Given the description of an element on the screen output the (x, y) to click on. 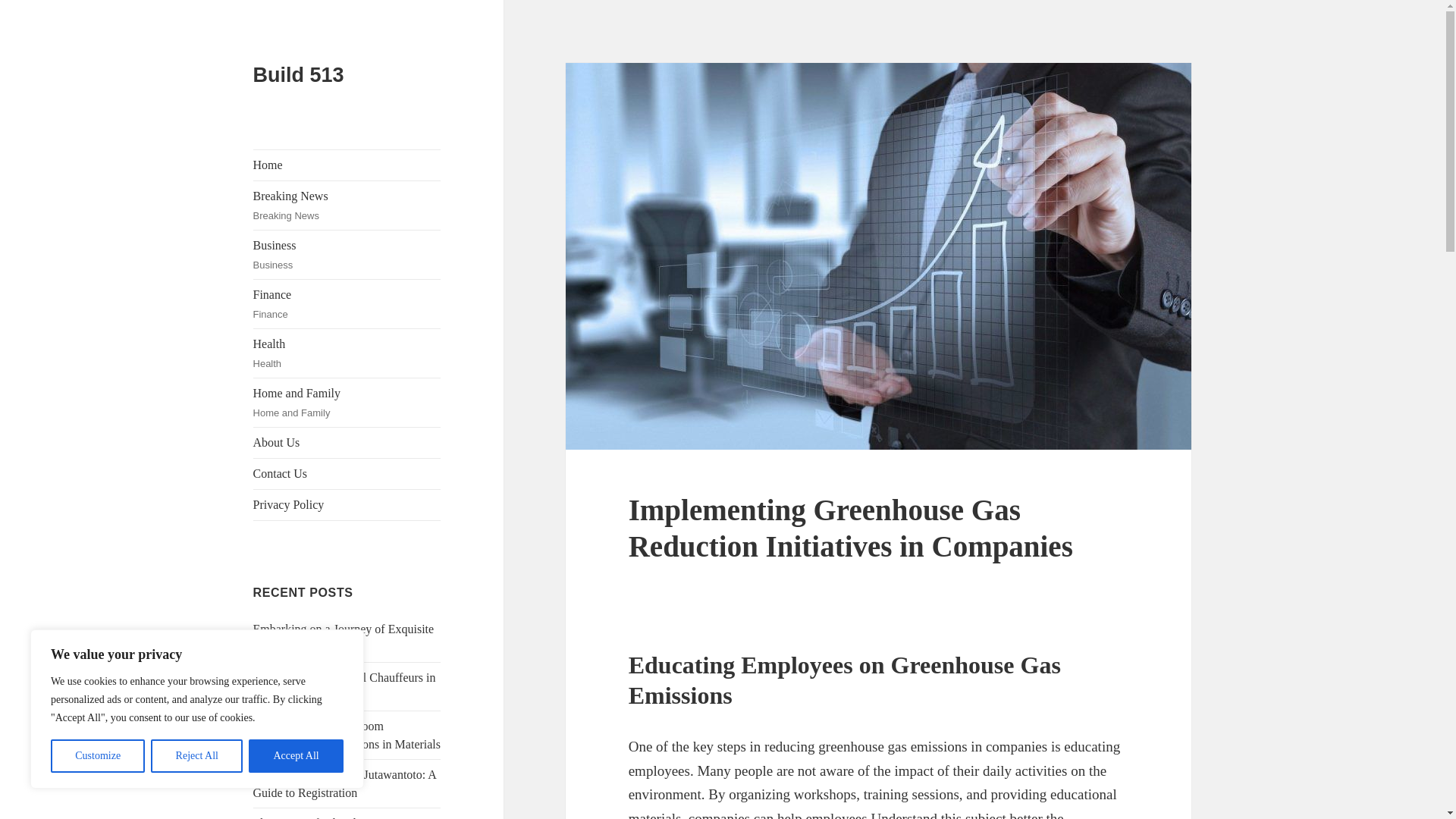
Discover the World of Jutawantoto: A Guide to Registration (344, 783)
About Us (347, 442)
Privacy Policy (347, 504)
Home (347, 164)
Embarking on a Journey of Exquisite Spirits (347, 254)
Accept All (343, 637)
Contact Us (295, 756)
The Art of Professional Chauffeurs in Airport Transfers (347, 205)
Reject All (347, 353)
